Given the description of an element on the screen output the (x, y) to click on. 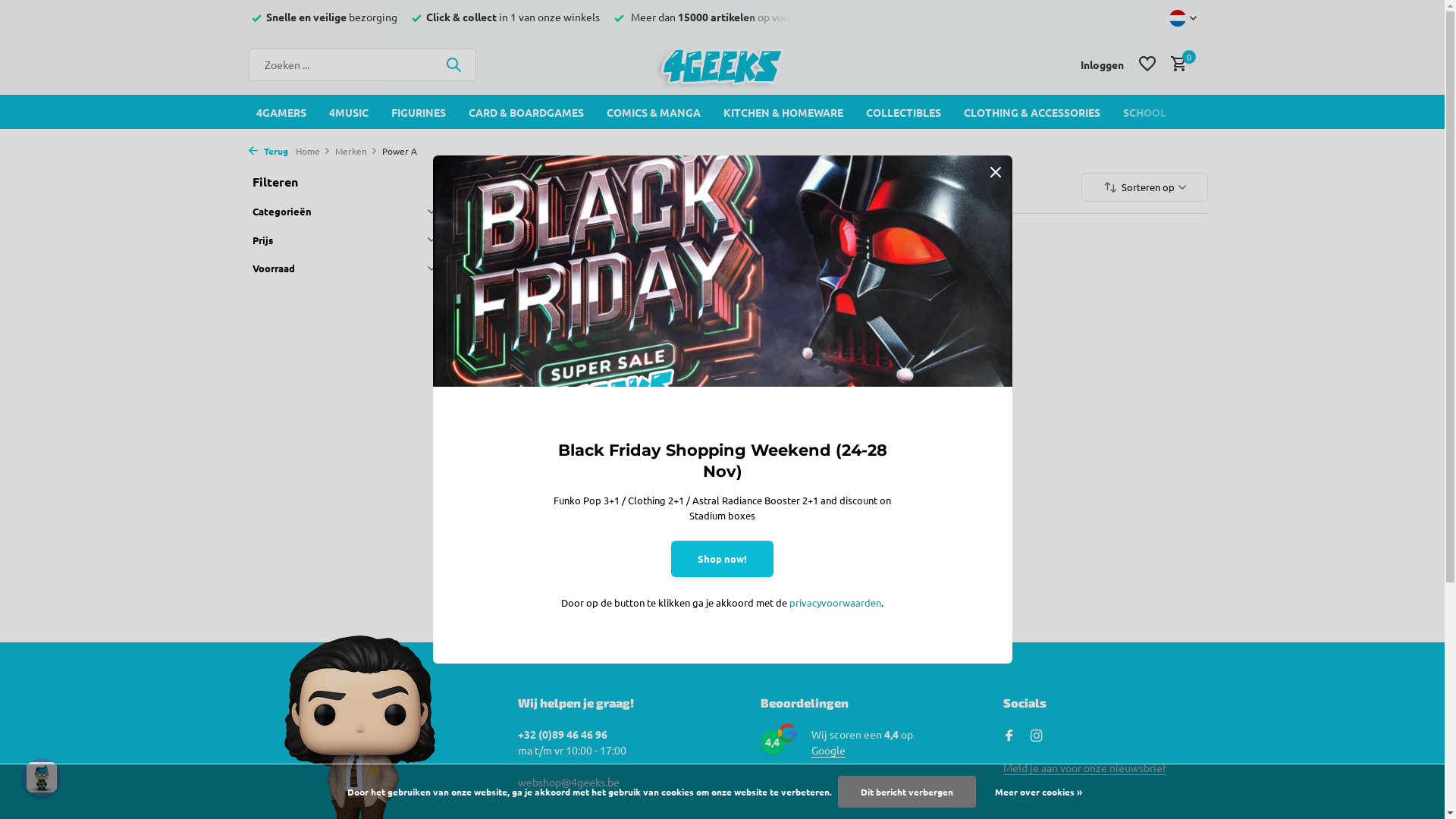
FIGURINES Element type: text (418, 112)
Zoeken Element type: hover (452, 64)
4GEEKS Element type: hover (721, 64)
COMICS & MANGA Element type: text (653, 112)
Merken Element type: text (358, 150)
Dit bericht verbergen Element type: text (906, 791)
Google Element type: text (828, 750)
CLOTHING & ACCESSORIES Element type: text (1031, 112)
Power A Nintendo 3DS Frozen Starter Kit Element type: text (595, 489)
Shop now! Element type: text (722, 558)
4GAMERS Element type: text (281, 112)
Inloggen Element type: text (1101, 64)
Meld je aan voor onze nieuwsbrief Element type: text (1083, 767)
Home Element type: text (315, 150)
CARD & BOARDGAMES Element type: text (525, 112)
4MUSIC Element type: text (348, 112)
Terug Element type: text (268, 150)
SCHOOL Element type: text (1143, 112)
COLLECTIBLES Element type: text (903, 112)
privacyvoorwaarden Element type: text (835, 602)
0 Element type: text (1174, 64)
Verlanglijst Element type: text (1147, 64)
KITCHEN & HOMEWARE Element type: text (783, 112)
